Given the description of an element on the screen output the (x, y) to click on. 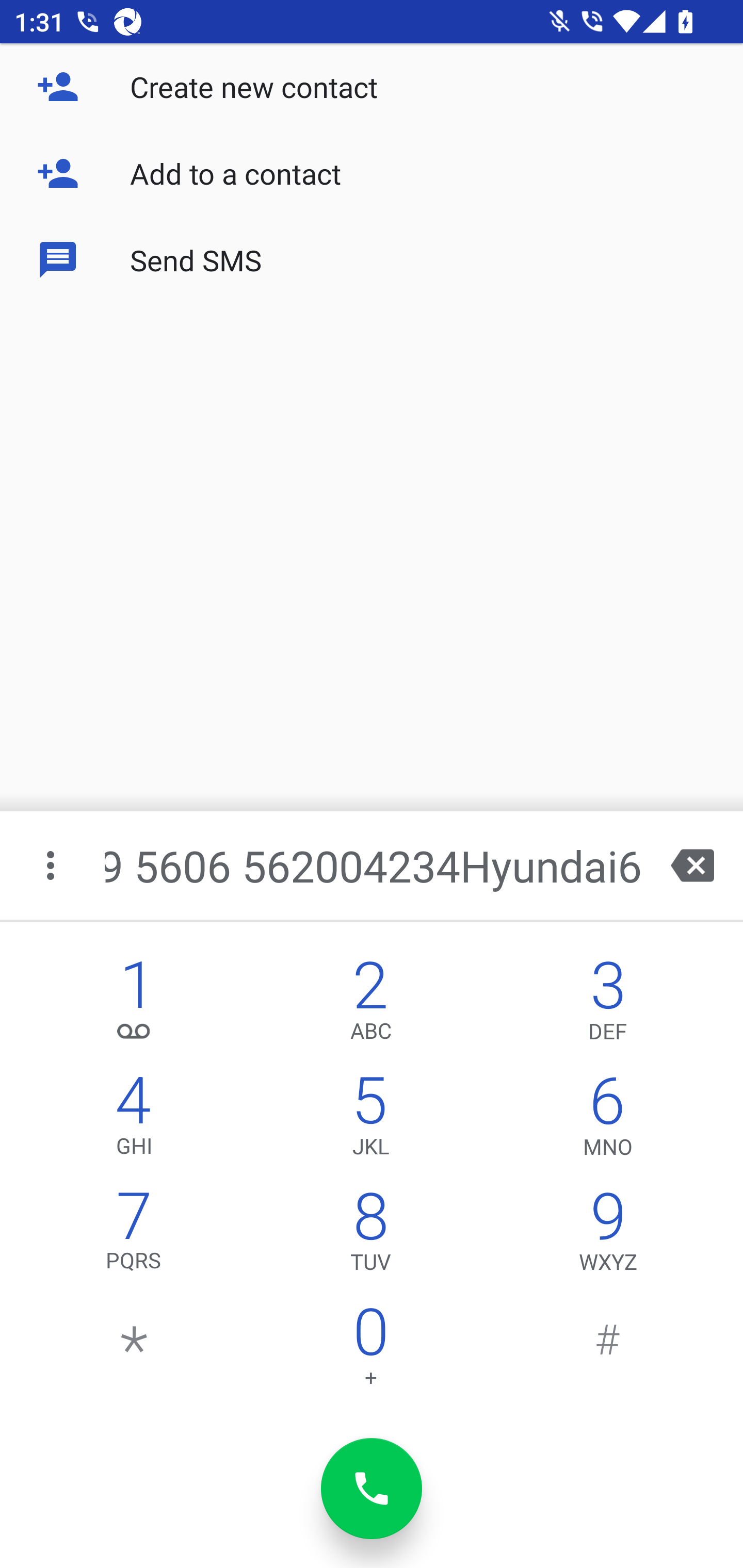
Create new contact (371, 86)
Add to a contact (371, 173)
Send SMS (371, 259)
+49 5606 562004234Hyundai6 (372, 865)
backspace (692, 865)
More options (52, 865)
1, 1 (133, 1005)
2,ABC 2 ABC (370, 1005)
3,DEF 3 DEF (607, 1005)
4,GHI 4 GHI (133, 1120)
5,JKL 5 JKL (370, 1120)
6,MNO 6 MNO (607, 1120)
7,PQRS 7 PQRS (133, 1235)
8,TUV 8 TUV (370, 1235)
9,WXYZ 9 WXYZ (607, 1235)
* (133, 1351)
0 0 + (370, 1351)
# (607, 1351)
dial (371, 1488)
